Given the description of an element on the screen output the (x, y) to click on. 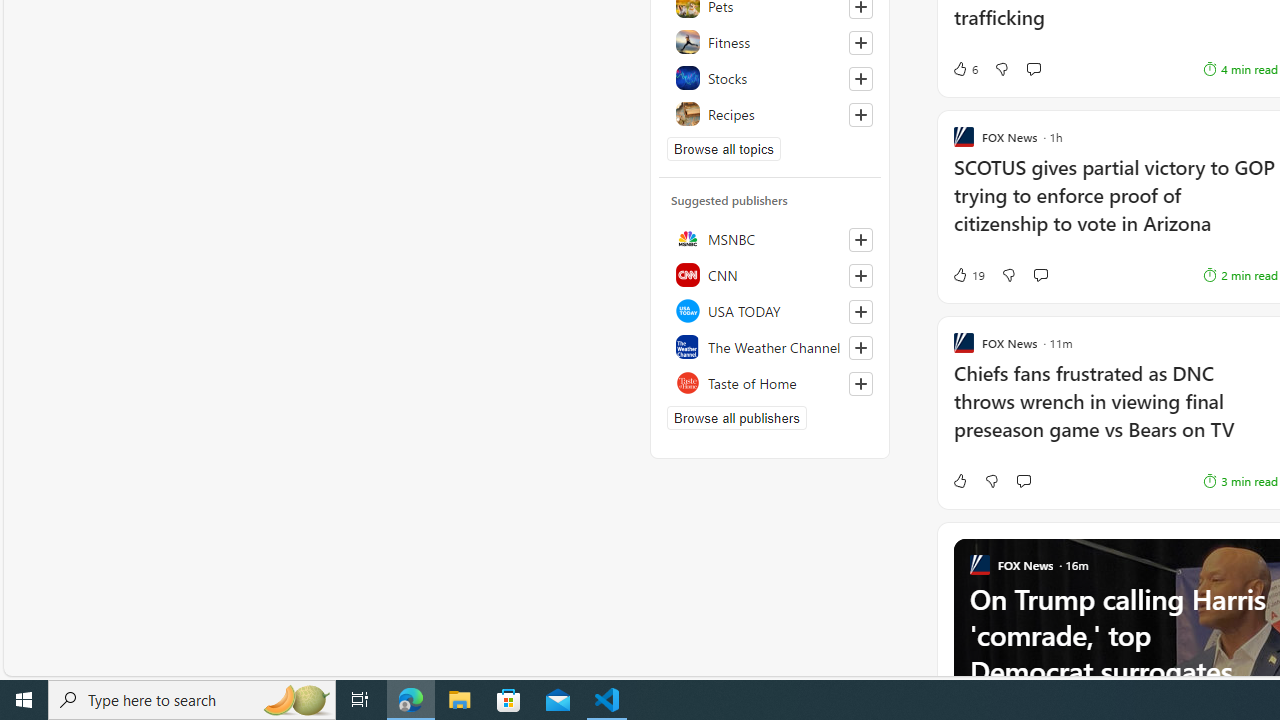
Recipes (770, 114)
MSNBC (770, 238)
6 Like (771, 68)
Follow this topic (860, 114)
Browse all publishers (736, 417)
Follow this topic (860, 114)
Fitness (770, 42)
Stocks (770, 78)
Like (766, 480)
Follow this source (860, 384)
